Given the description of an element on the screen output the (x, y) to click on. 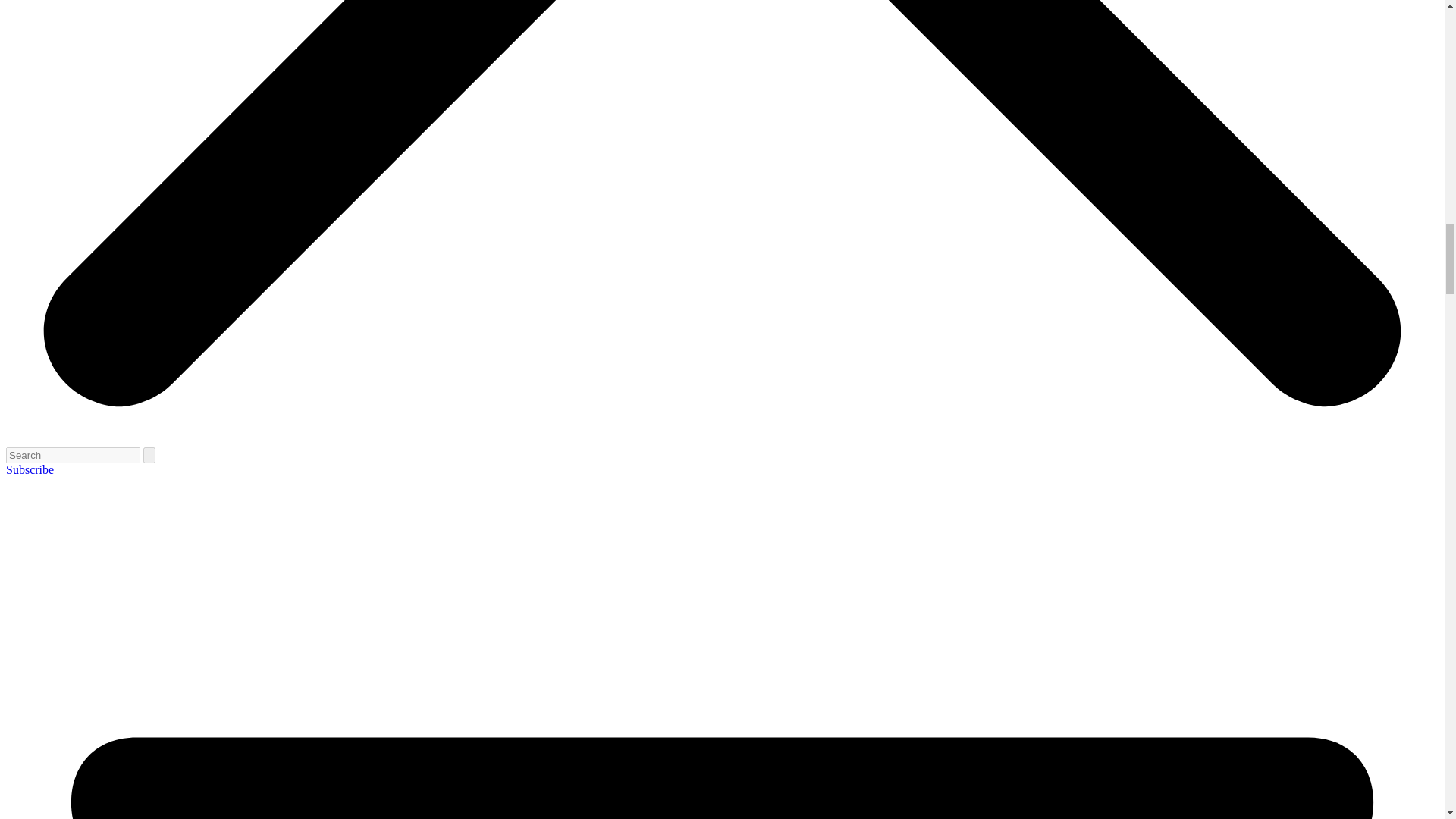
Subscribe (29, 469)
